Given the description of an element on the screen output the (x, y) to click on. 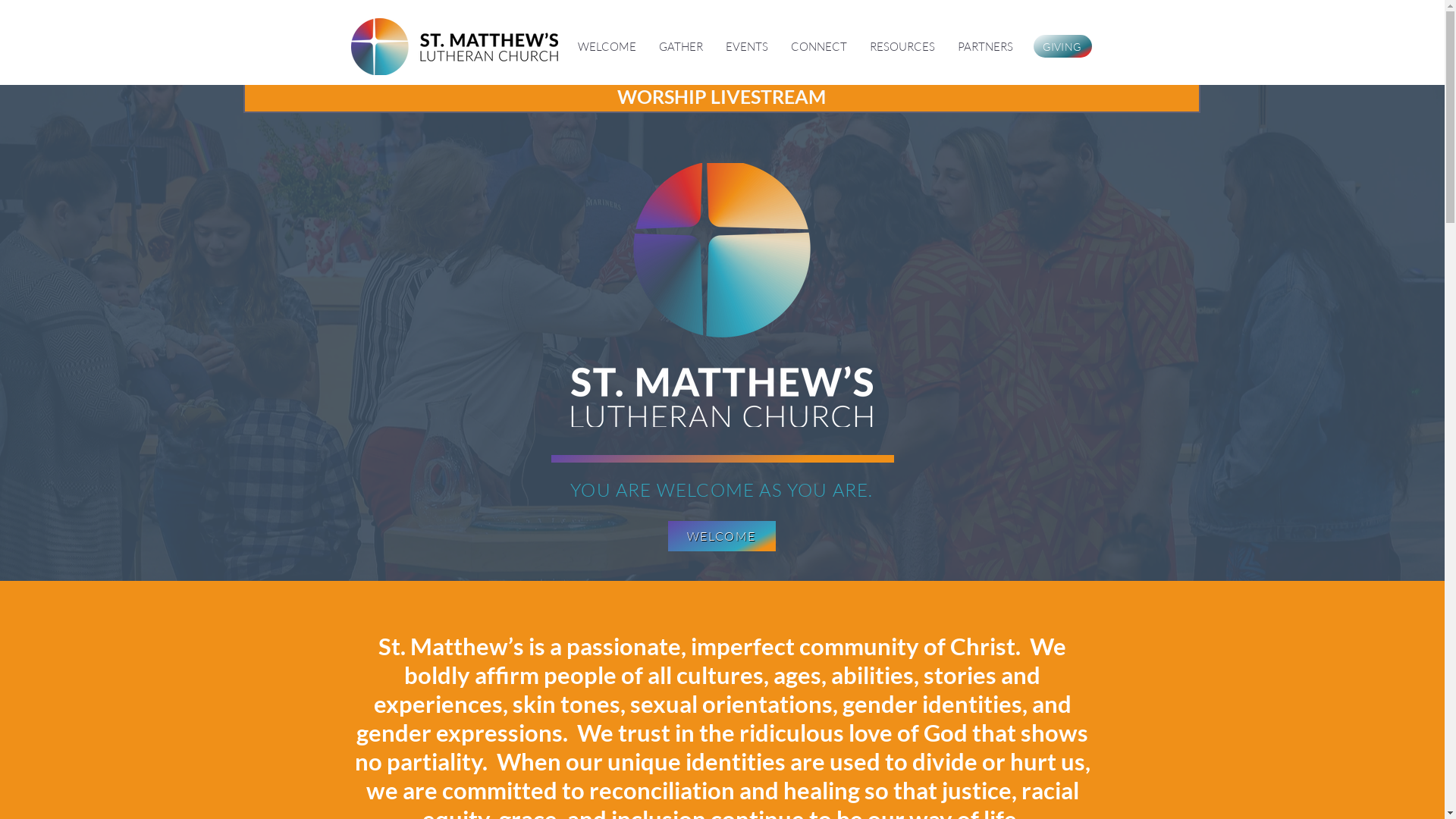
WELCOME Element type: text (606, 46)
RESOURCES Element type: text (902, 46)
WORSHIP LIVESTREAM Element type: text (720, 96)
PARTNERS Element type: text (985, 46)
GATHER Element type: text (680, 46)
EVENTS Element type: text (746, 46)
WELCOME Element type: text (721, 535)
CONNECT Element type: text (818, 46)
GIVING Element type: text (1061, 45)
